Given the description of an element on the screen output the (x, y) to click on. 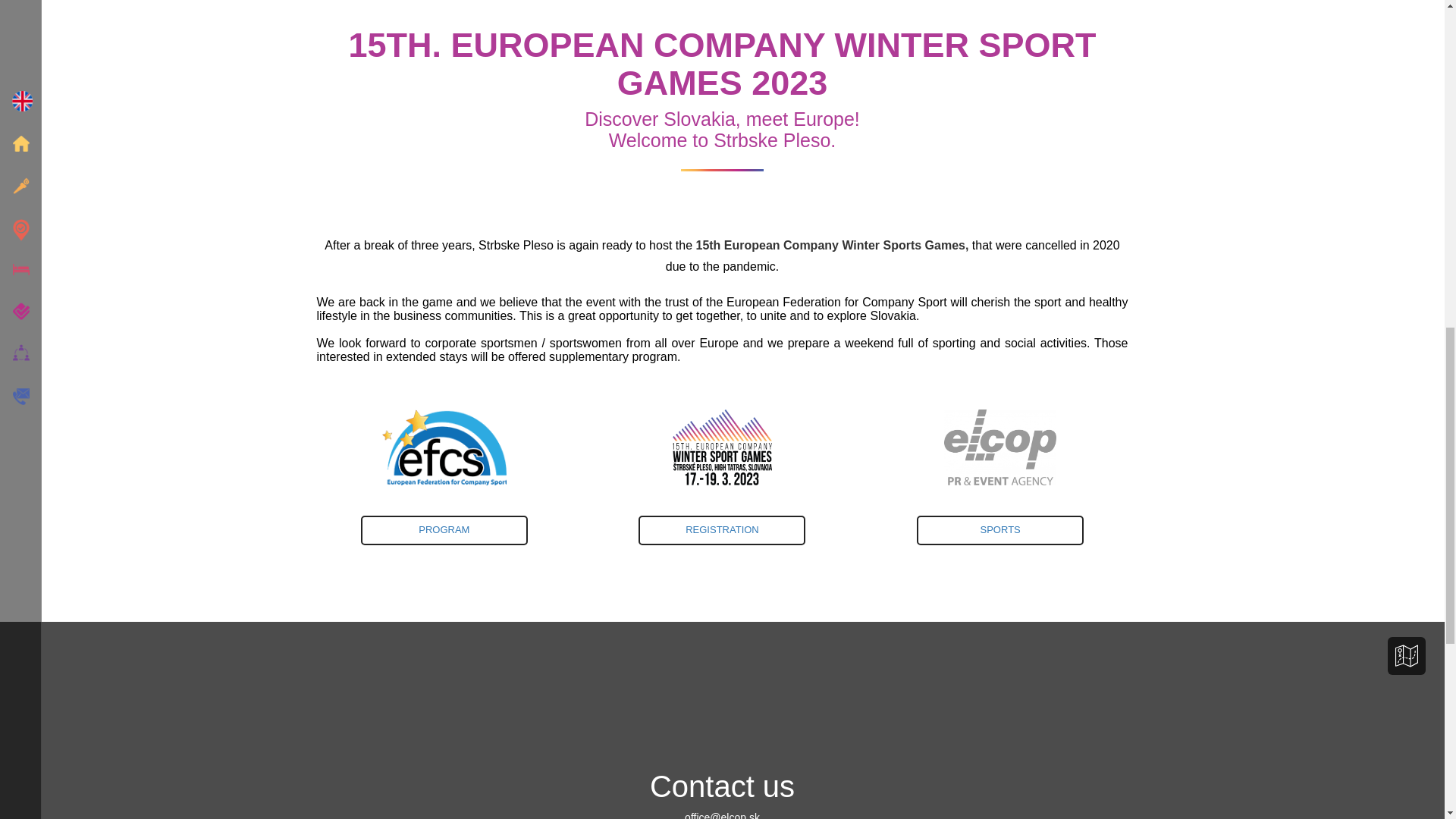
PROGRAM (444, 530)
REGISTRATION (722, 537)
SPORTS (722, 530)
